Given the description of an element on the screen output the (x, y) to click on. 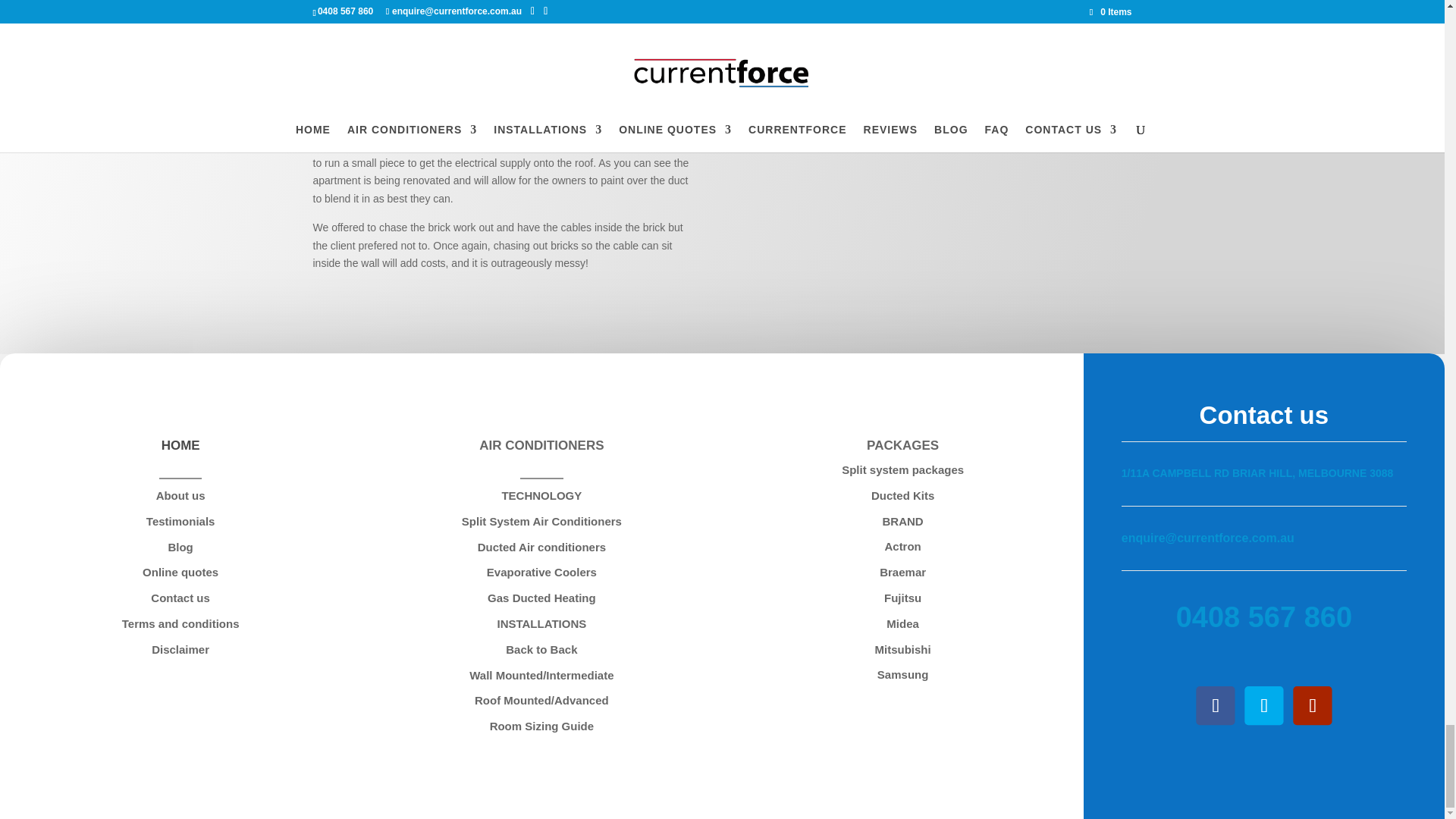
Follow on Twitter (1256, 698)
Follow on Facebook (1207, 698)
Follow on Youtube (1304, 698)
